Given the description of an element on the screen output the (x, y) to click on. 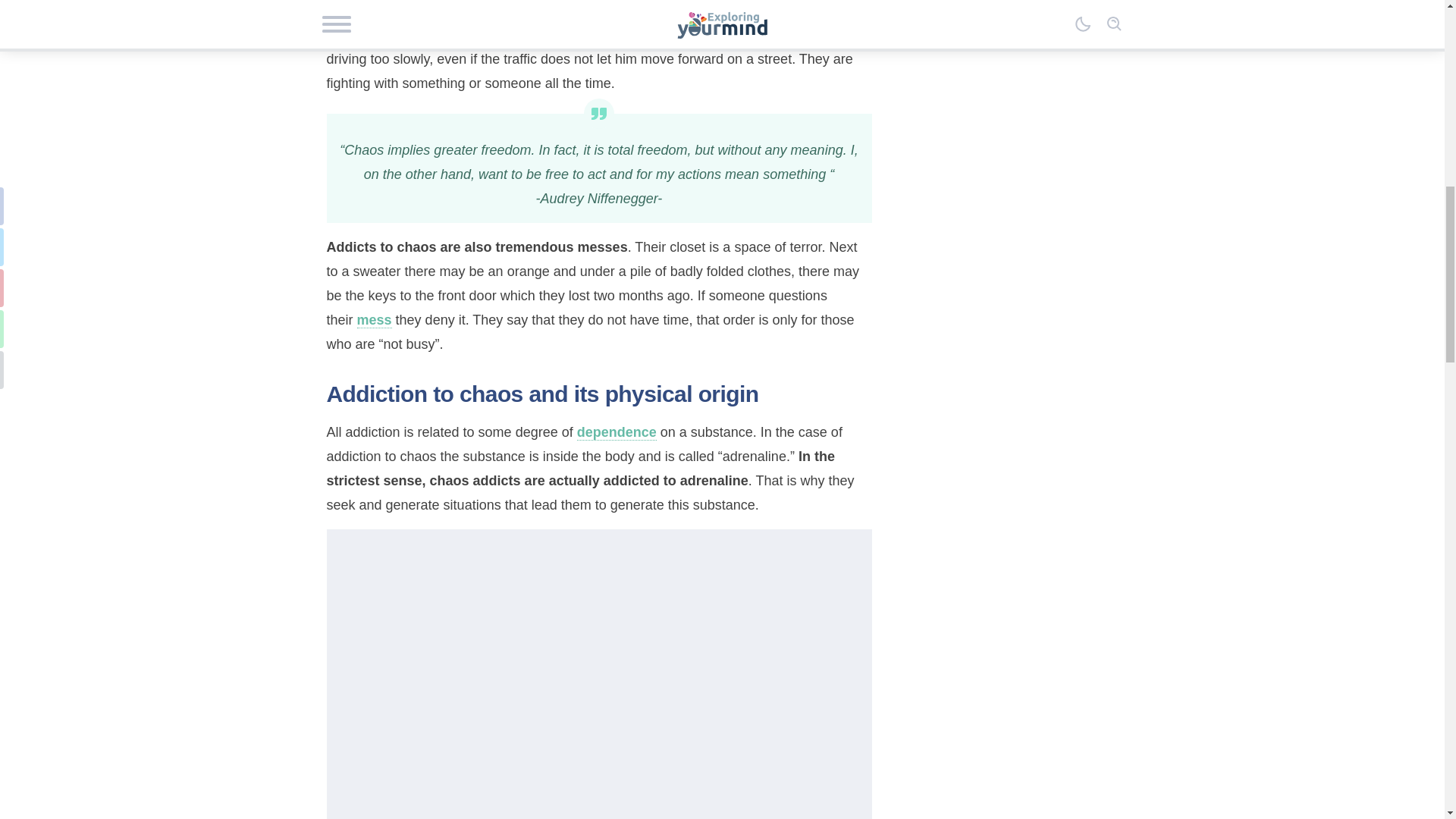
dependence (616, 432)
mess (373, 320)
blame (345, 35)
